Given the description of an element on the screen output the (x, y) to click on. 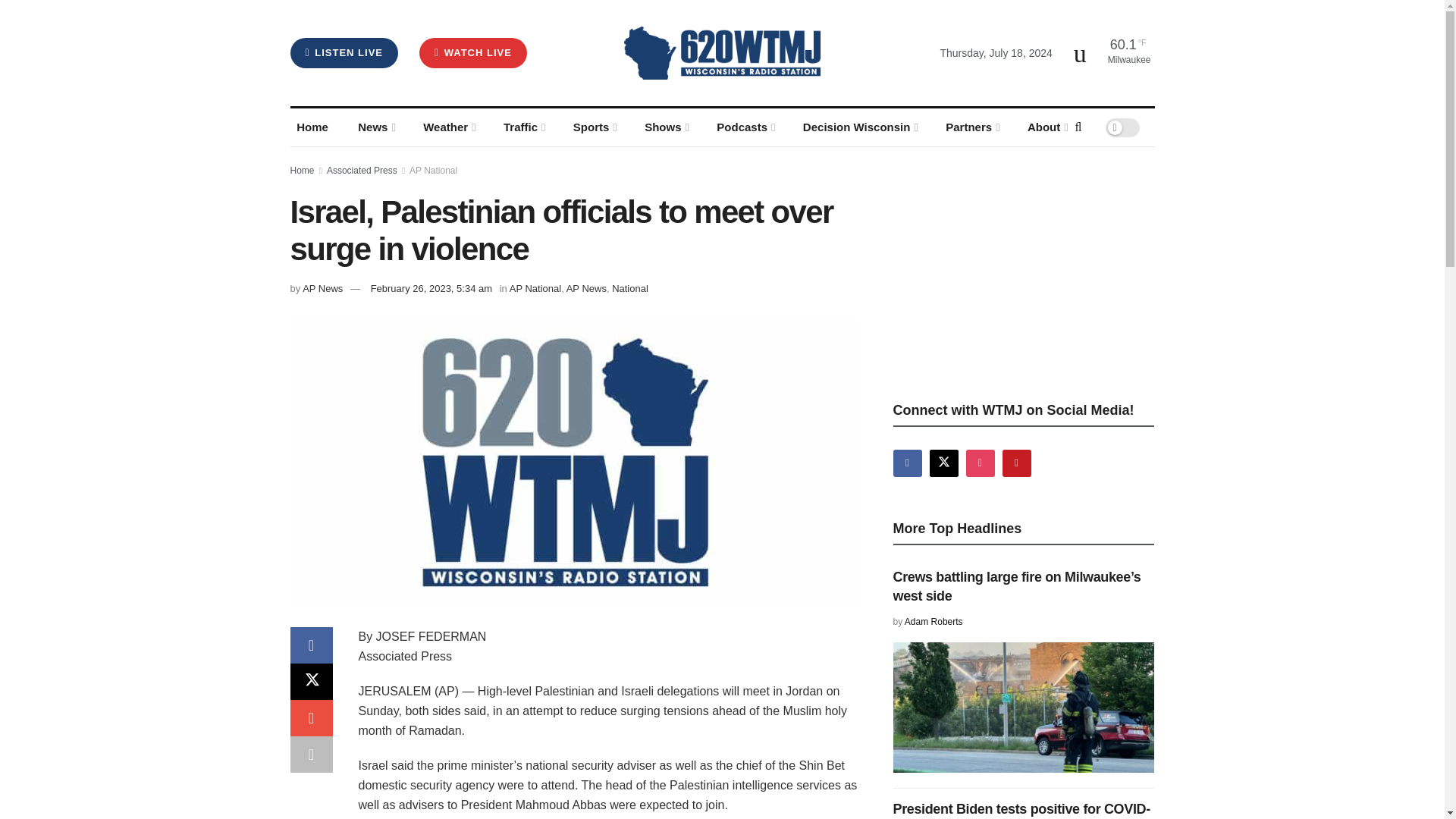
Home (311, 127)
3rd party ad content (1007, 271)
Sports (593, 127)
News (376, 127)
Weather (448, 127)
WATCH LIVE (473, 52)
LISTEN LIVE (343, 52)
Traffic (523, 127)
